Given the description of an element on the screen output the (x, y) to click on. 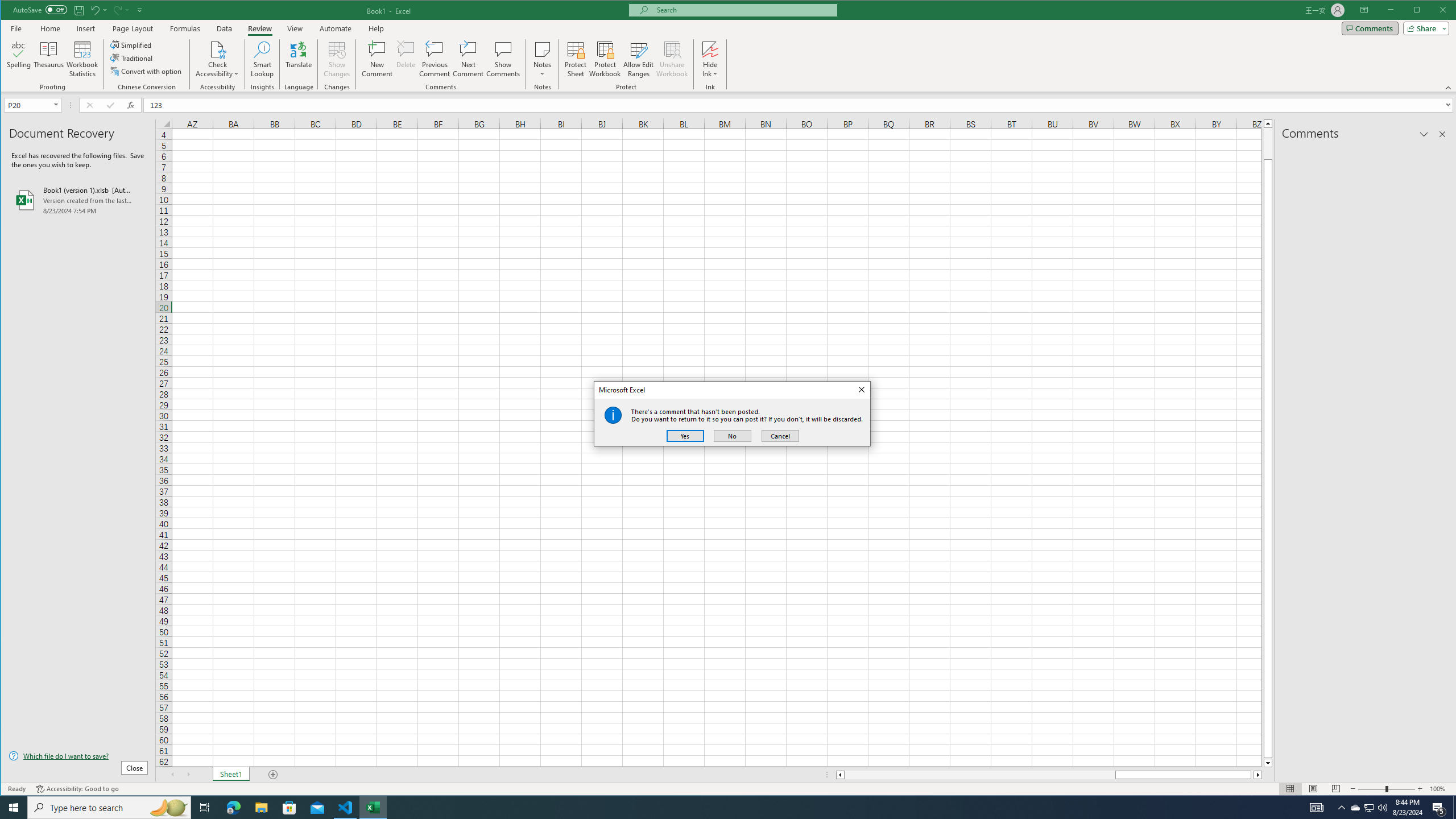
New Comment (377, 59)
